Given the description of an element on the screen output the (x, y) to click on. 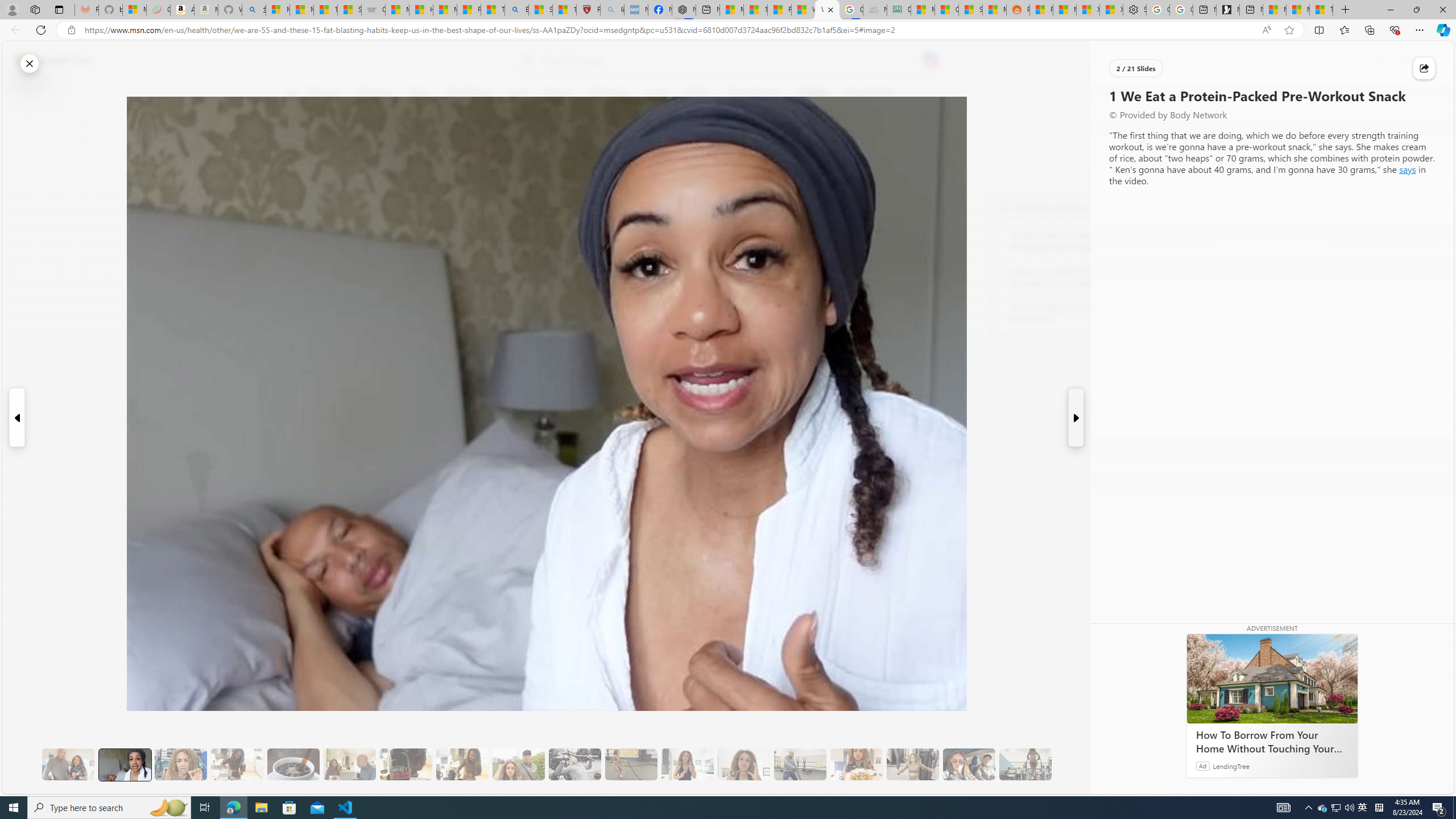
World News (468, 92)
Personalize (1132, 92)
Visit Body Network website (1145, 207)
10 Then, They Do HIIT Cardio (631, 764)
10 Then, They Do HIIT Cardio (631, 764)
Local (517, 92)
16 The Couple's Program Helps with Accountability (968, 764)
Entertainment (753, 92)
Open settings (1427, 60)
15 They Also Indulge in a Low-Calorie Sweet Treat (912, 764)
5 She Eats Less Than Her Husband (349, 764)
11 They Eat More Protein for Breakfast (687, 764)
R******* | Trusted Community Engagement and Contributions (1041, 9)
